Given the description of an element on the screen output the (x, y) to click on. 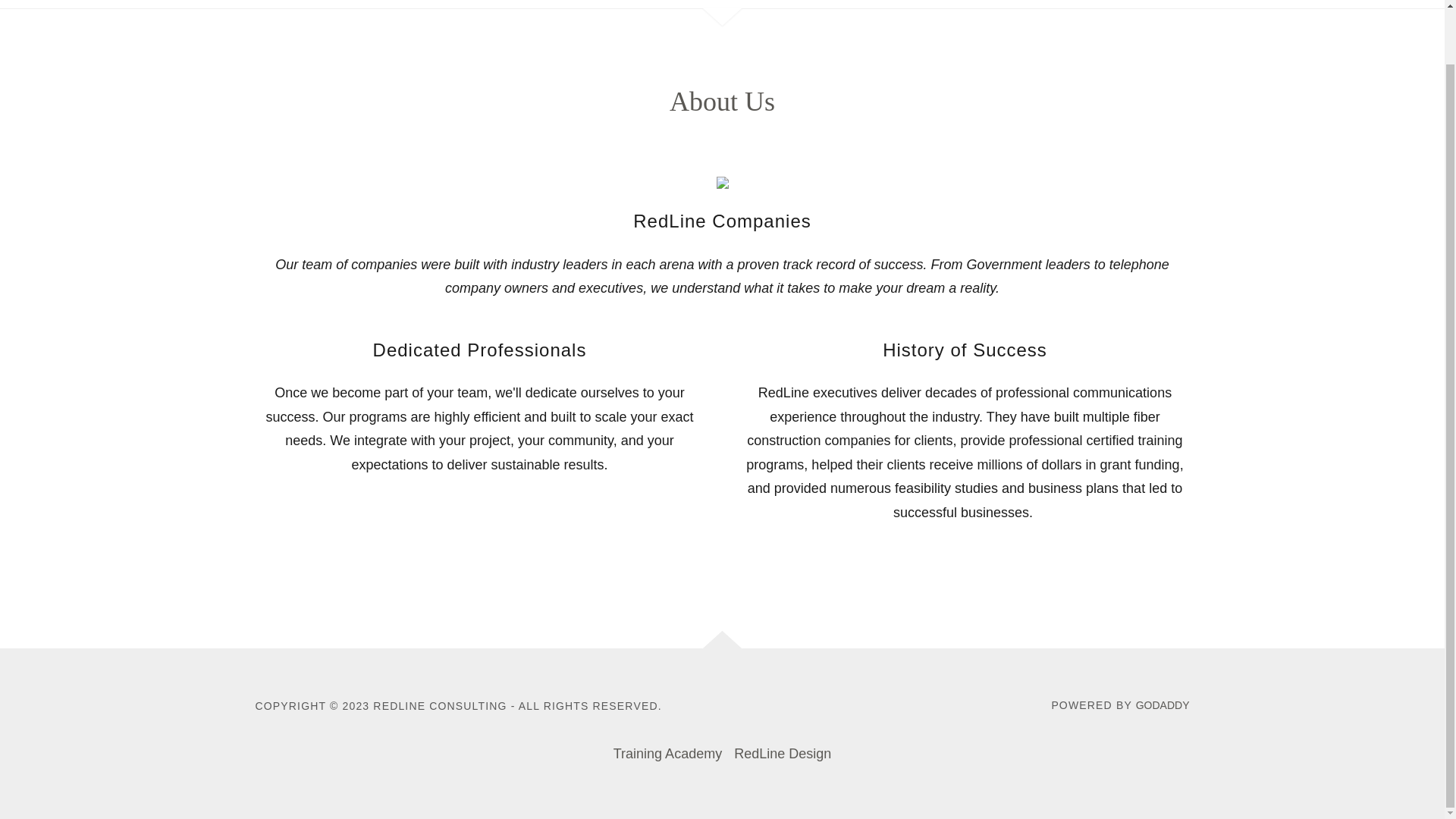
Training Academy (667, 753)
RedLine Design (782, 753)
GODADDY (1162, 705)
